Given the description of an element on the screen output the (x, y) to click on. 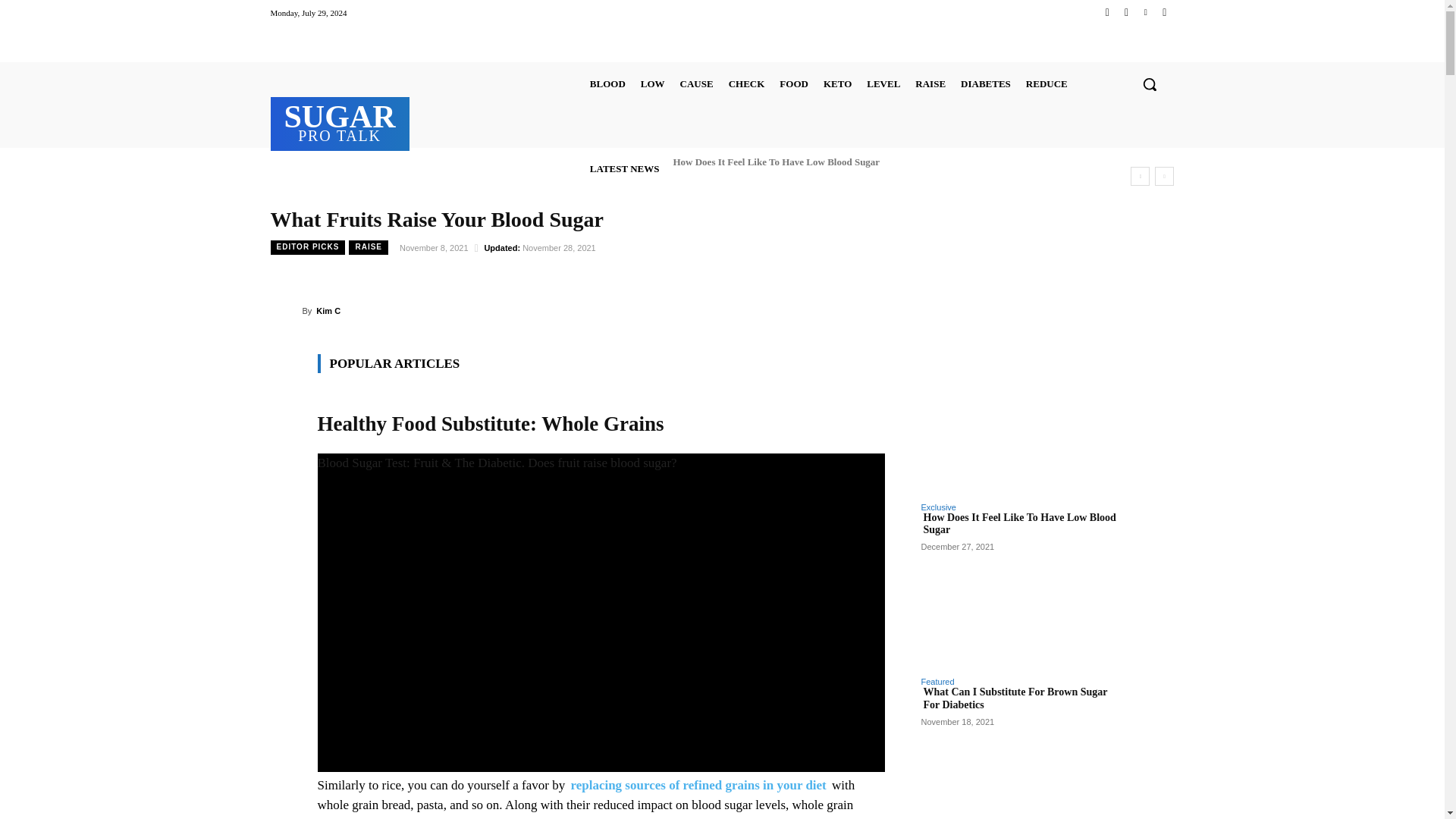
Facebook (1106, 12)
